Given the description of an element on the screen output the (x, y) to click on. 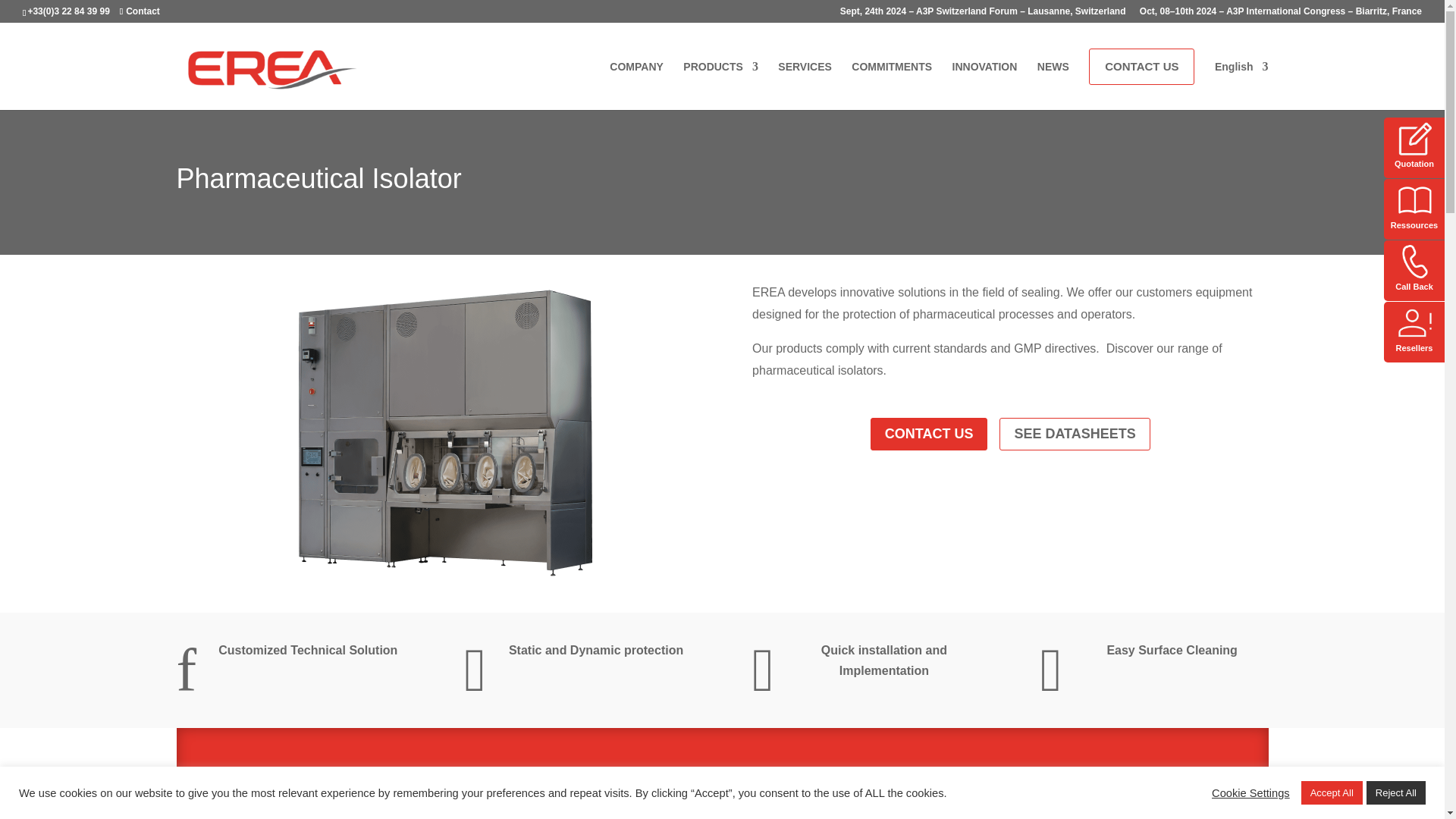
CONTACT US (929, 433)
COMPANY (636, 79)
NEWS (1052, 79)
SERVICES (804, 79)
Contact (139, 10)
English (1241, 79)
SEE DATASHEETS (1074, 433)
INNOVATION (984, 79)
COMMITMENTS (891, 79)
CONTACT US (1141, 66)
PRODUCTS (720, 79)
